Given the description of an element on the screen output the (x, y) to click on. 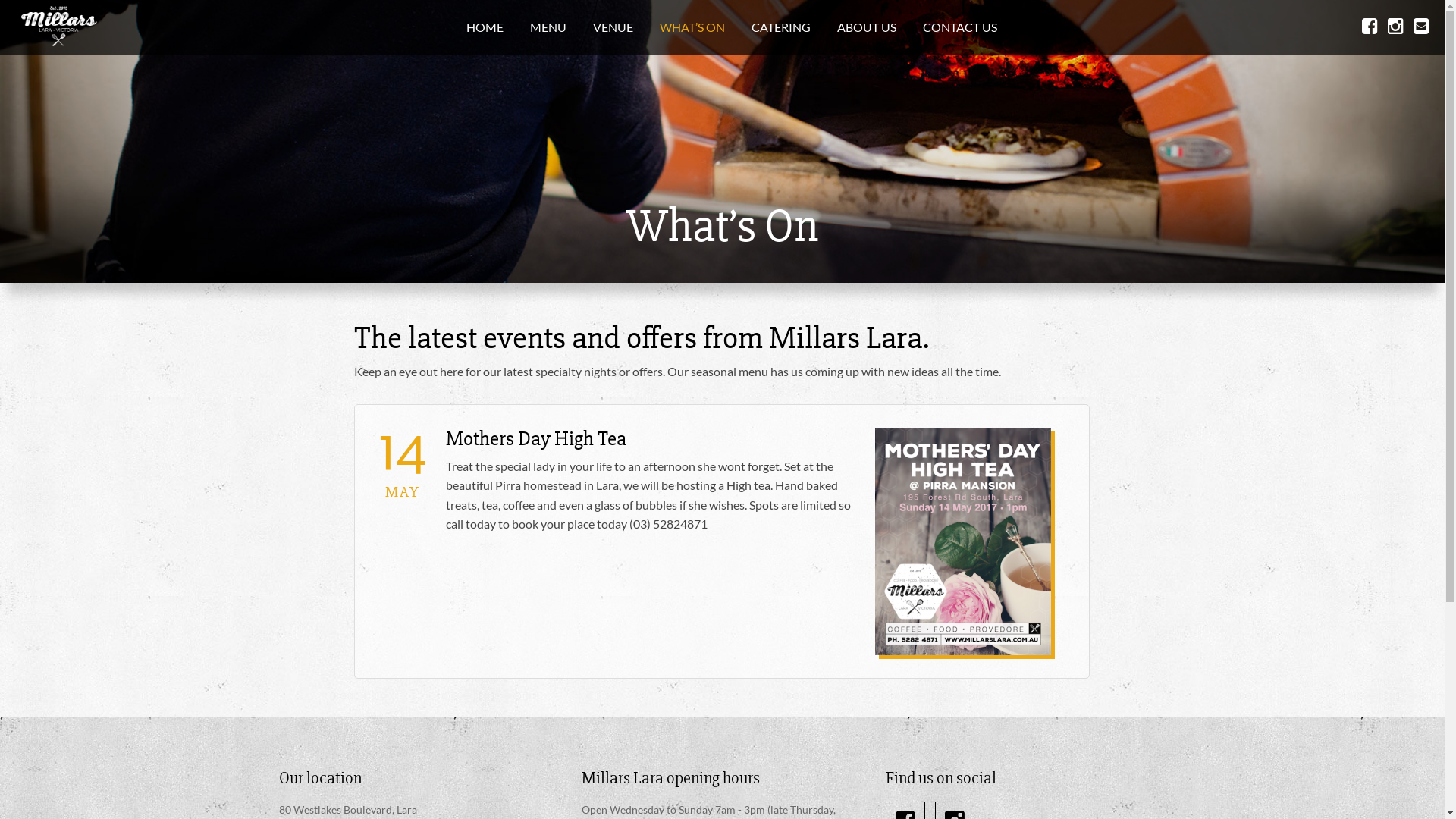
VENUE Element type: text (612, 26)
CONTACT US Element type: text (959, 26)
ABOUT US Element type: text (866, 26)
CATERING Element type: text (780, 26)
HOME Element type: text (484, 26)
MENU Element type: text (547, 26)
